Given the description of an element on the screen output the (x, y) to click on. 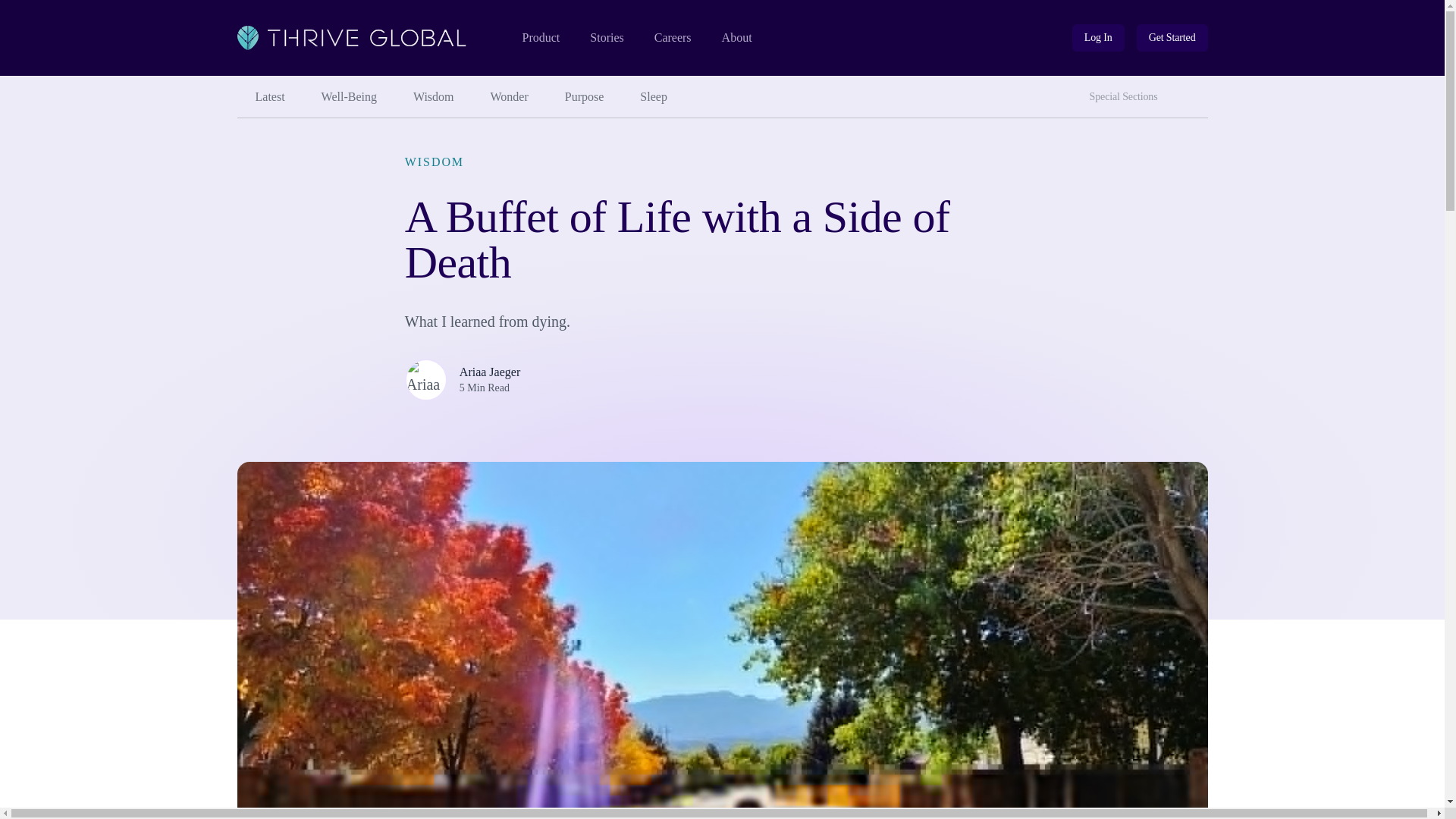
About (737, 37)
Well-Being (348, 96)
Sleep (653, 96)
Log In (1193, 91)
btn-info (1097, 37)
Careers (1097, 37)
Wonder (672, 37)
Latest (509, 96)
Stories (268, 96)
